Given the description of an element on the screen output the (x, y) to click on. 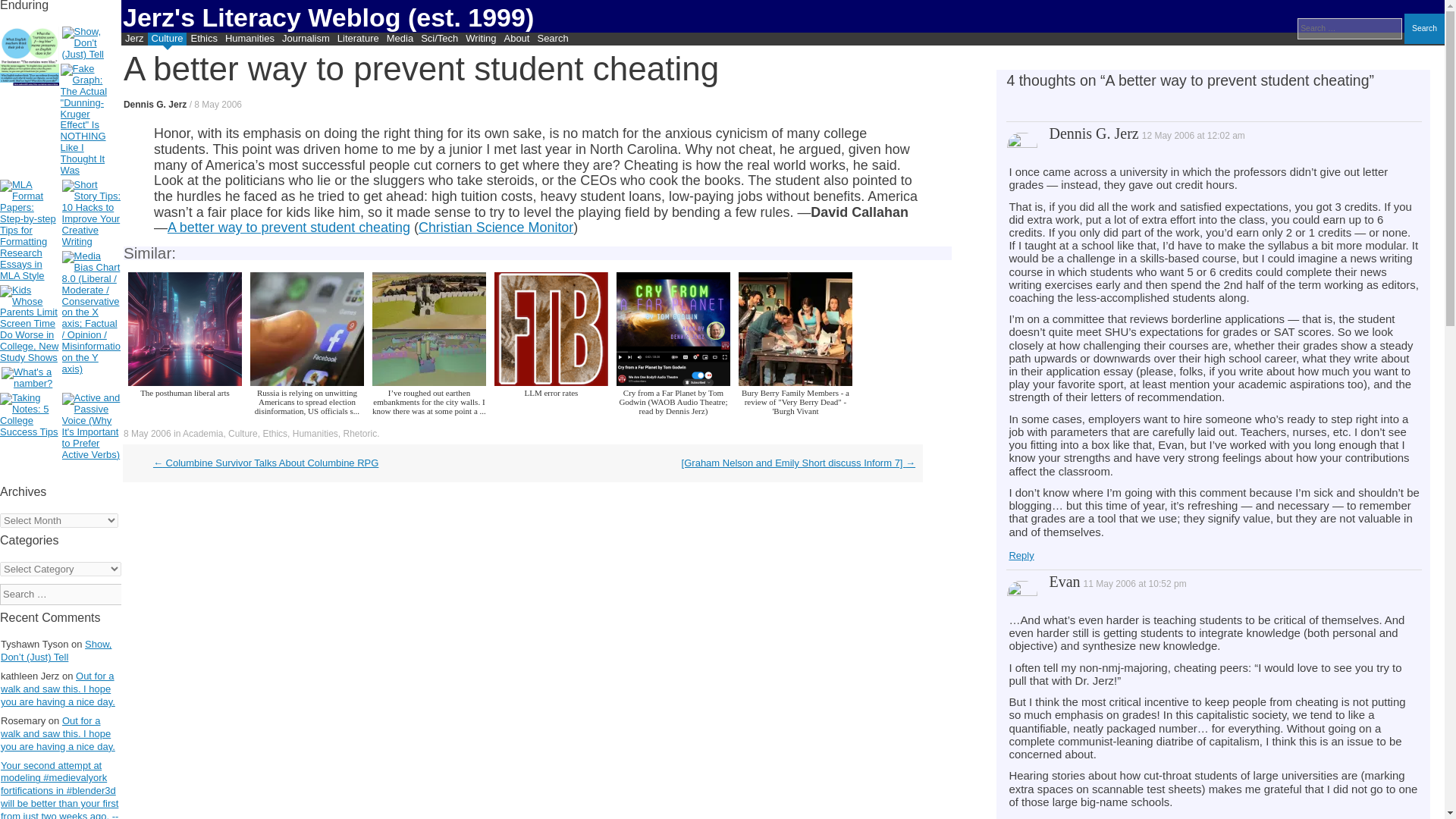
Taking Notes: 5 College Success Tips (29, 415)
Ethics (203, 38)
The Curtains Were Blue: In Which I Fix Another Meme. (29, 57)
What's a namber? (31, 377)
Jerz (134, 38)
Literature (357, 38)
Journalism (305, 38)
Humanities (249, 38)
Media (399, 38)
Culture (167, 38)
